Given the description of an element on the screen output the (x, y) to click on. 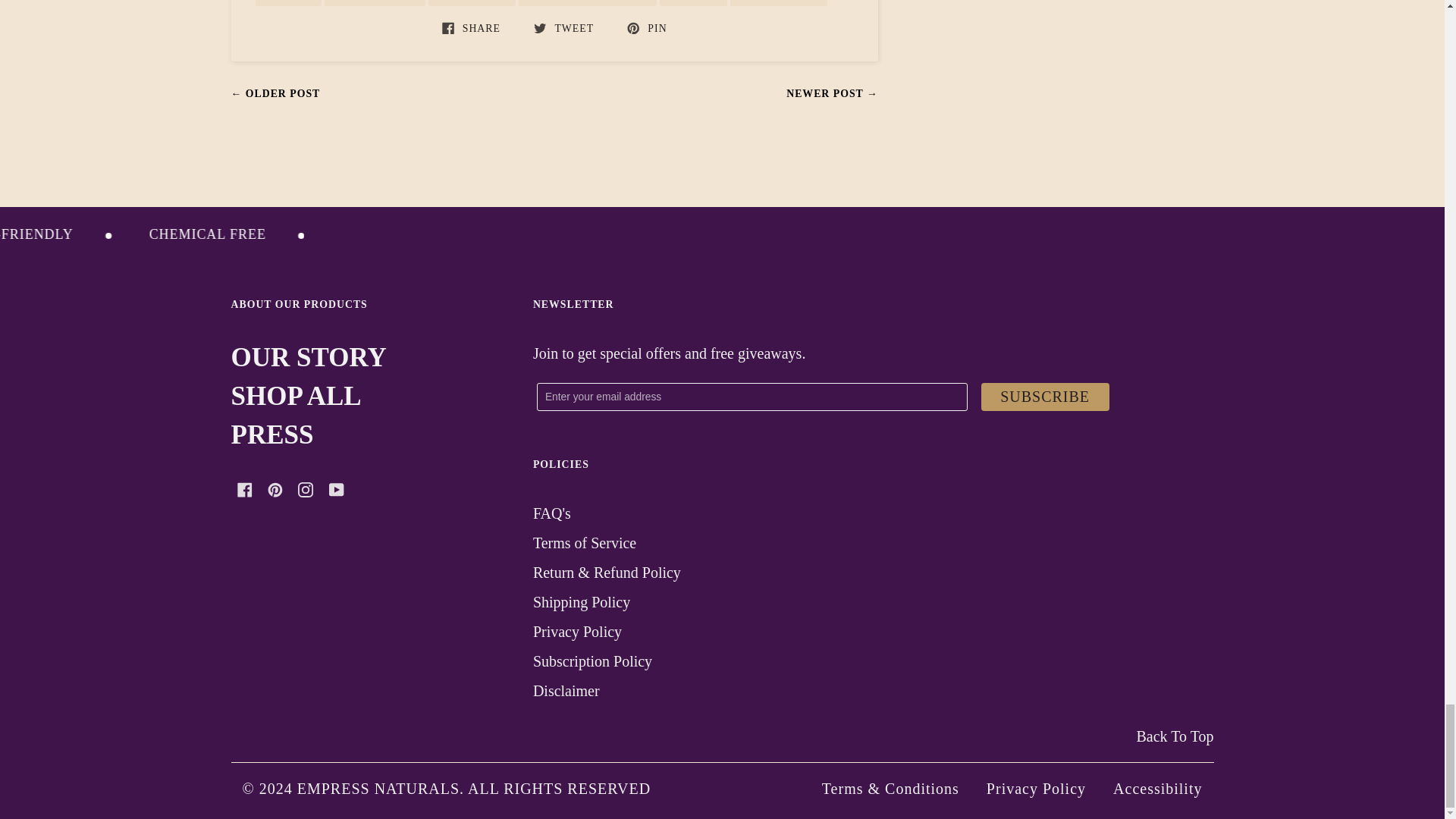
YouTube (336, 489)
Pinterest (274, 489)
Instagram (305, 489)
Facebook (243, 489)
